Given the description of an element on the screen output the (x, y) to click on. 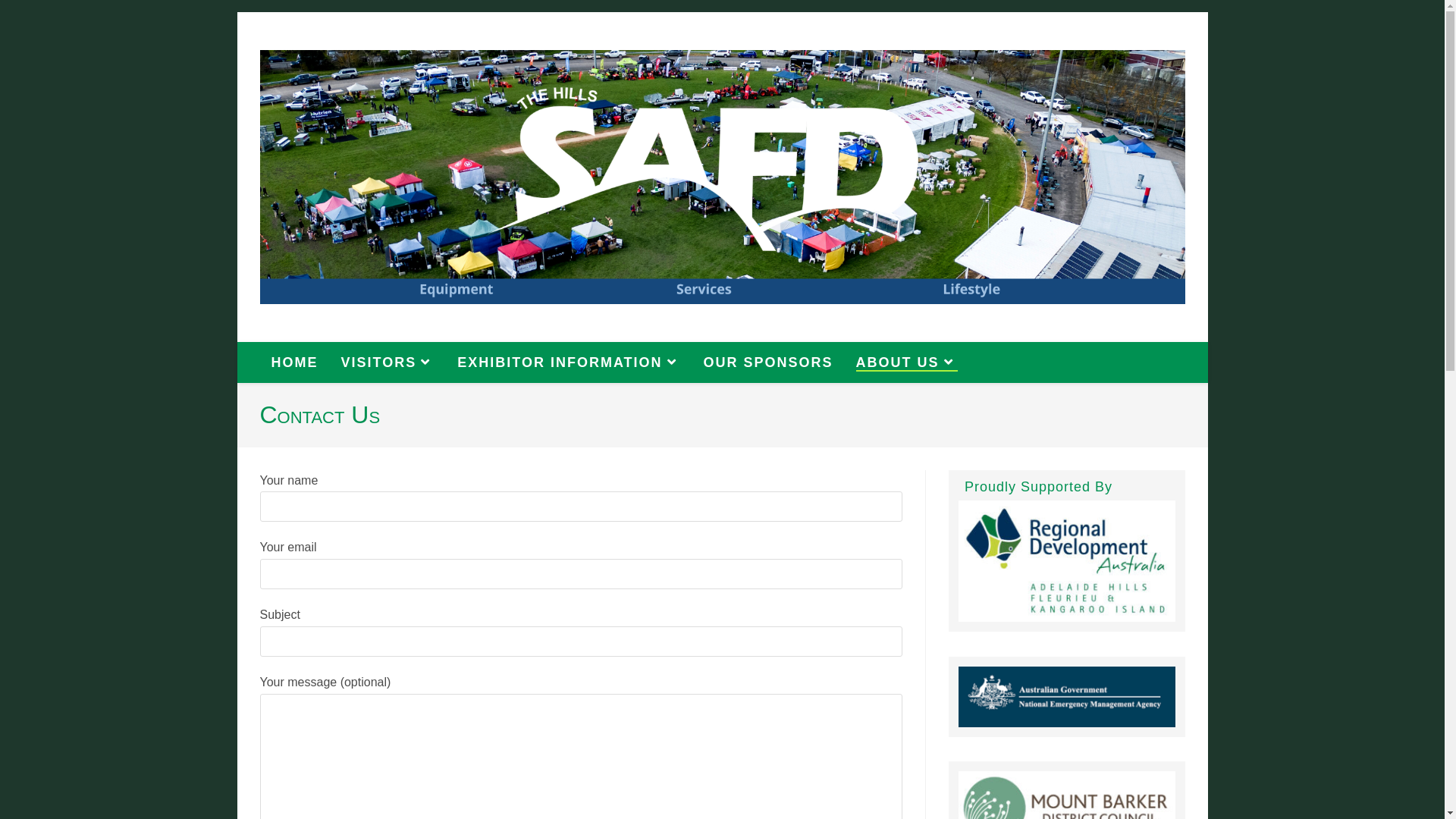
VISITORS Element type: text (387, 362)
OUR SPONSORS Element type: text (768, 362)
EXHIBITOR INFORMATION Element type: text (568, 362)
HOME Element type: text (294, 362)
ABOUT US Element type: text (906, 362)
